Given the description of an element on the screen output the (x, y) to click on. 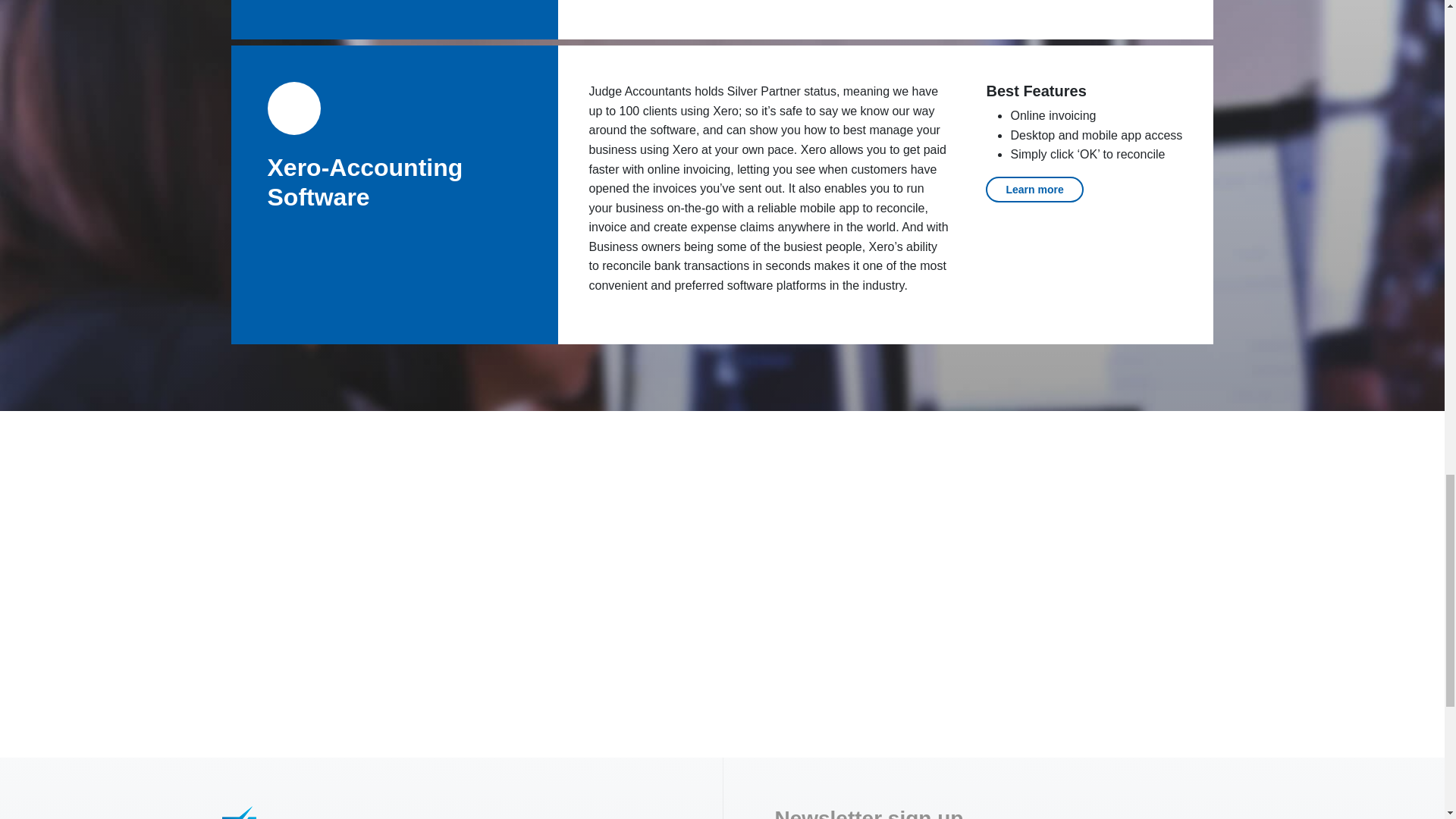
Learn more (1034, 189)
